Given the description of an element on the screen output the (x, y) to click on. 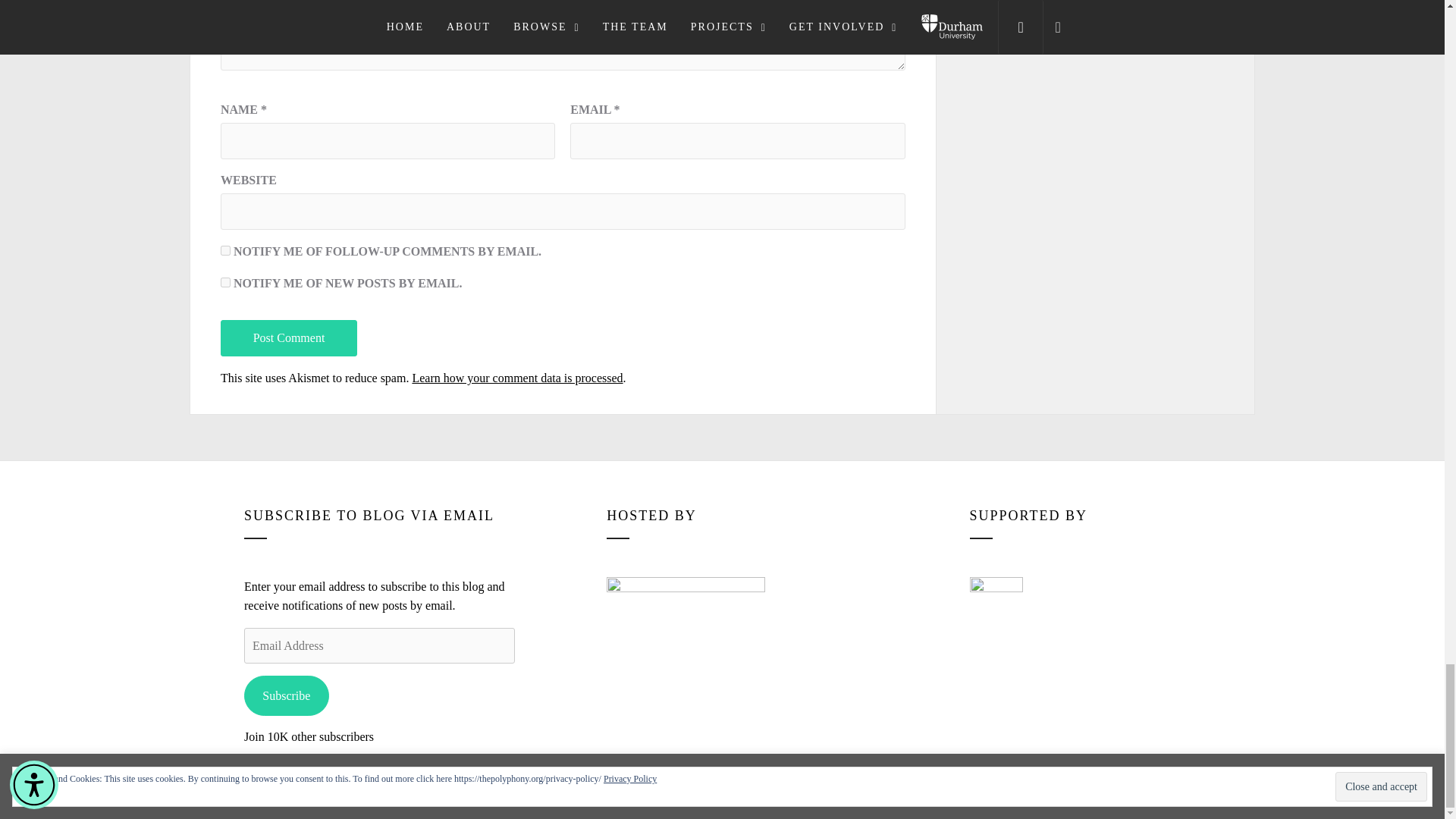
Post Comment (288, 338)
SUPPORTED BY (996, 603)
HOSTED BY (686, 624)
subscribe (225, 250)
subscribe (225, 282)
